Given the description of an element on the screen output the (x, y) to click on. 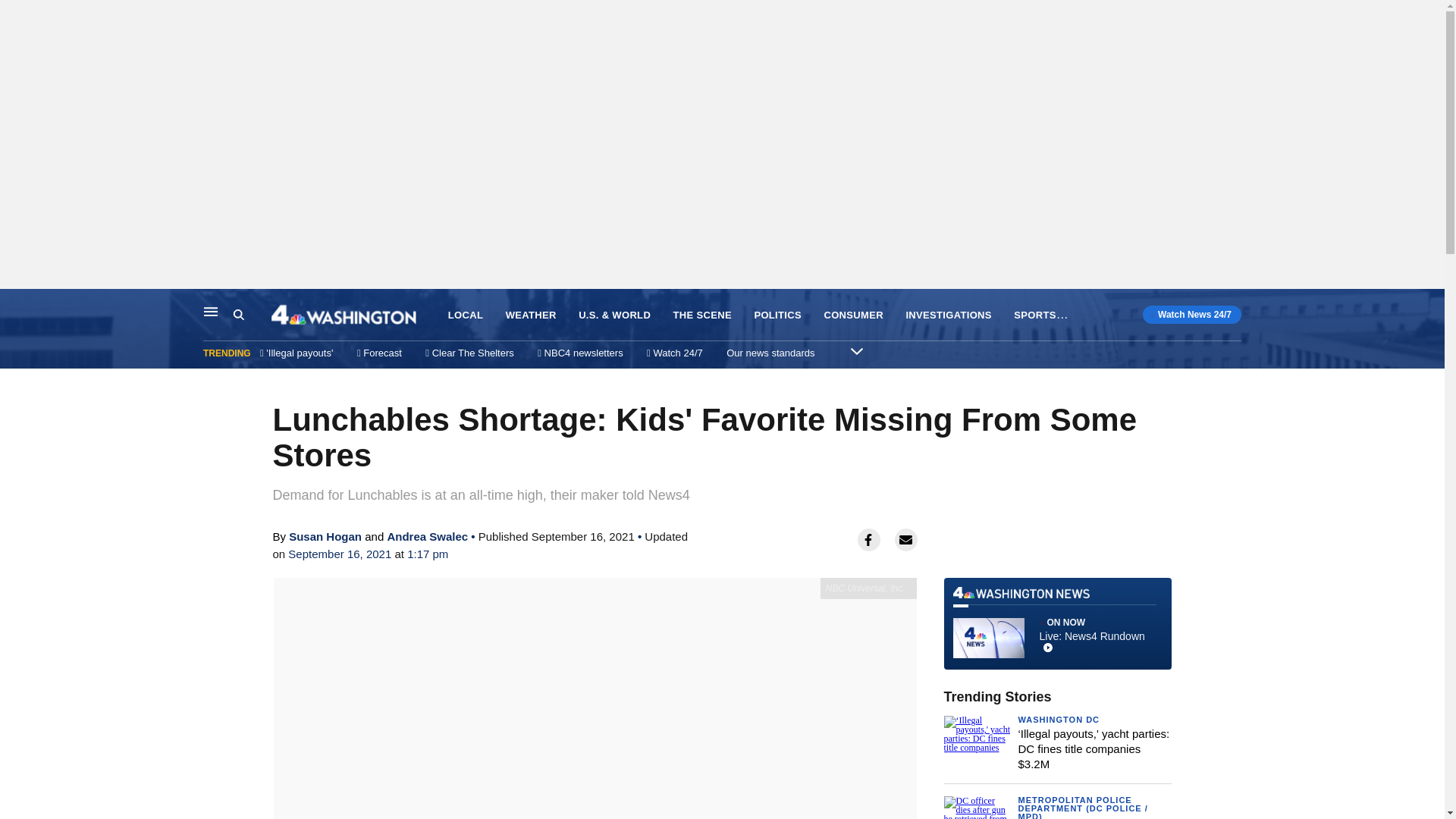
POLITICS (778, 315)
NEWSLETTERS (1117, 315)
SPORTS (1034, 315)
Andrea Swalec (427, 535)
INVESTIGATIONS (948, 315)
THE SCENE (702, 315)
Main Navigation (210, 311)
LOCAL (465, 315)
Expand (856, 350)
Search (238, 314)
